Given the description of an element on the screen output the (x, y) to click on. 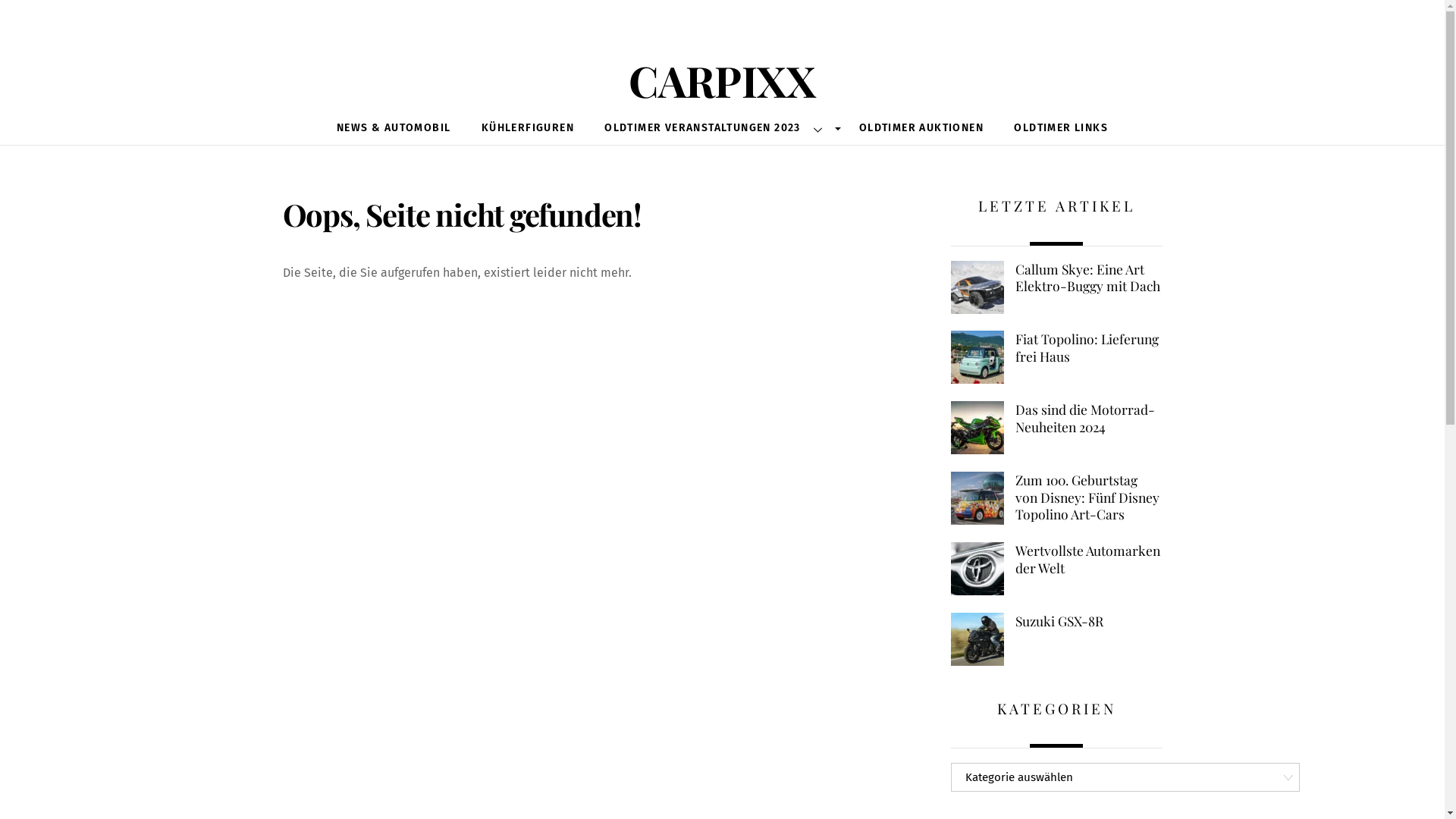
Fiat Topolino: Lieferung frei Haus Element type: text (1055, 347)
Callum Skye: Eine Art Elektro-Buggy mit Dach Element type: text (1055, 277)
Kawasaju_Ninja_ZX-6R_GN1_ACT__15__1000-2 Element type: hover (977, 427)
carpixx Element type: text (721, 71)
Der Fiat Topolino ist ab sofort bestellbar. Foto: Fiat Element type: hover (977, 356)
Das sind die Motorrad-Neuheiten 2024 Element type: text (1055, 418)
Wertvollste Automarken der Welt Element type: text (1055, 559)
OLDTIMER VERANSTALTUNGEN 2023 Element type: text (716, 128)
AdobeStock_416615387_Editorial_Use_Only_1000 Element type: hover (977, 568)
OLDTIMER AUKTIONEN Element type: text (920, 128)
OLDTIMER LINKS Element type: text (1060, 128)
Suzuki GSX-8R Element type: text (1055, 621)
NEWS & AUTOMOBIL Element type: text (393, 128)
